Given the description of an element on the screen output the (x, y) to click on. 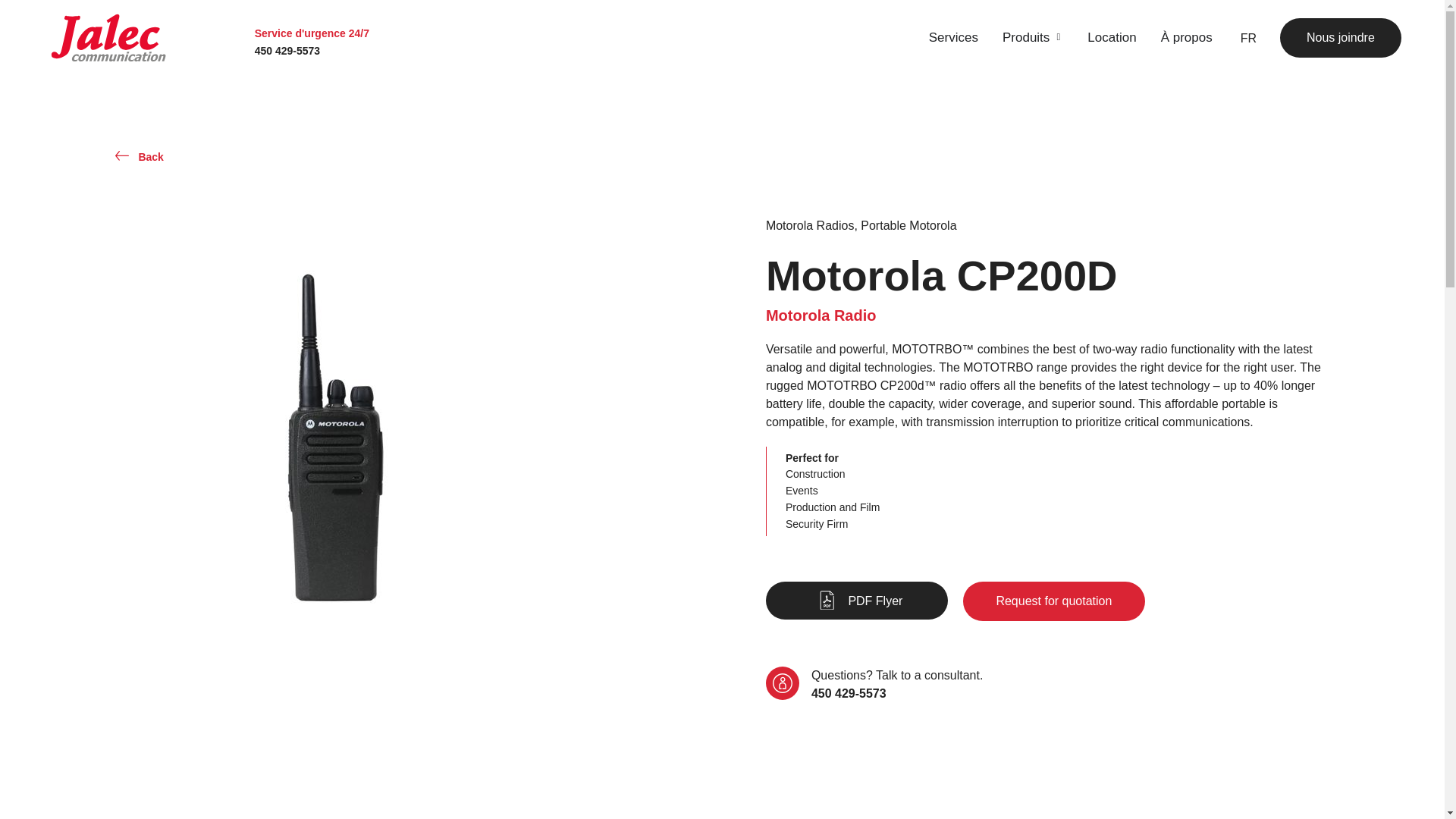
Services (953, 37)
Location (1111, 37)
